Given the description of an element on the screen output the (x, y) to click on. 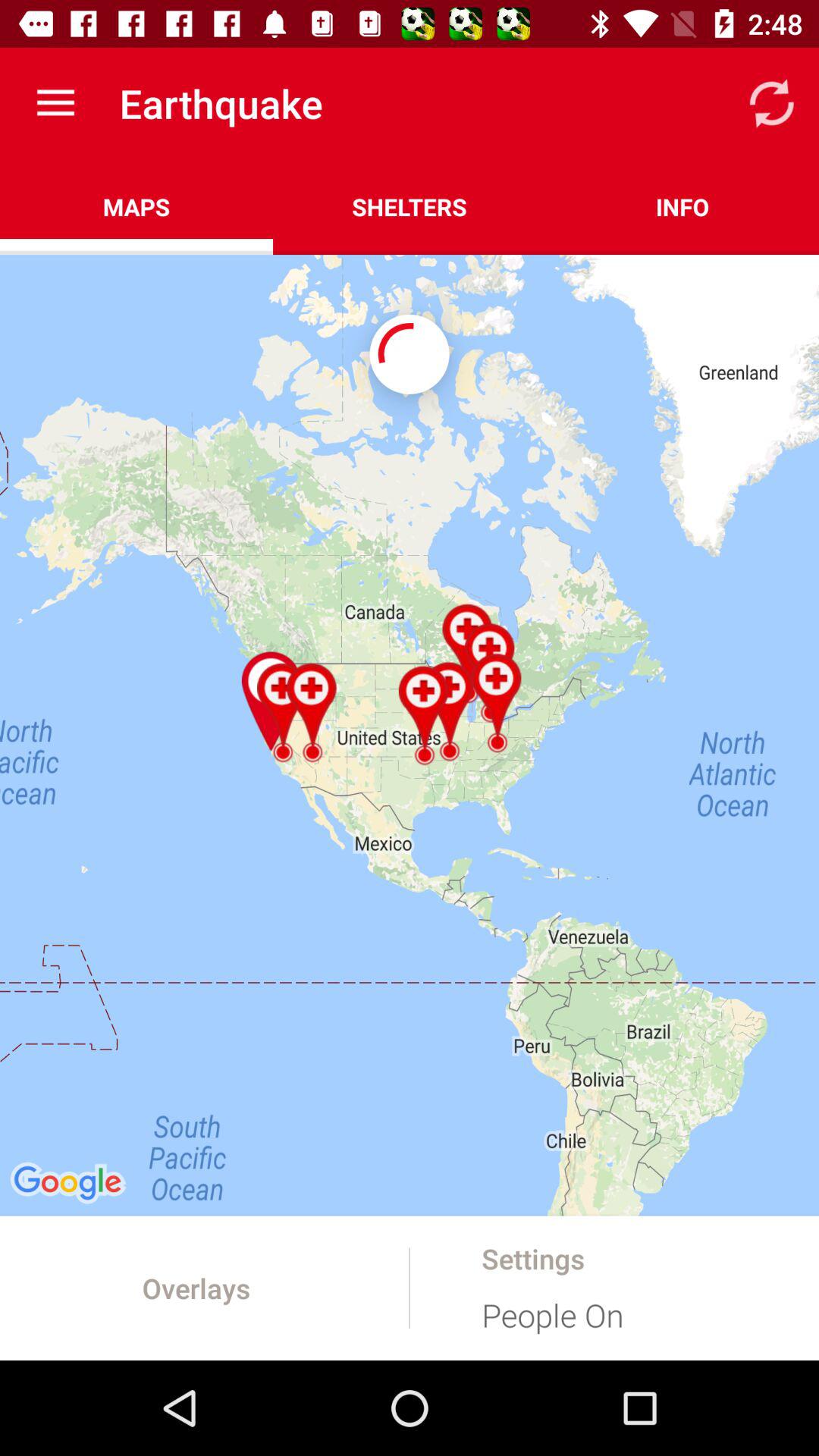
swipe until the shelters app (409, 206)
